Given the description of an element on the screen output the (x, y) to click on. 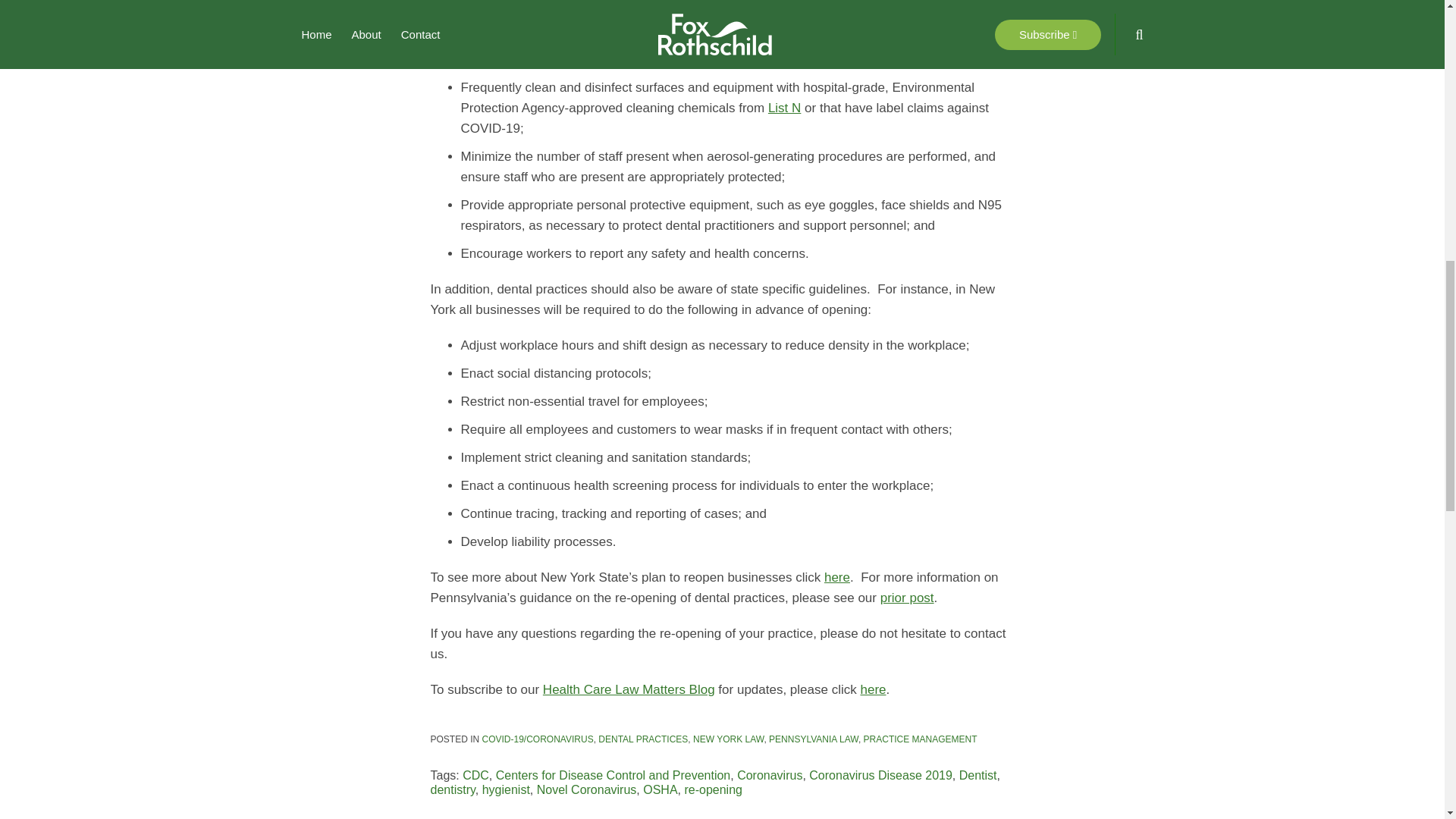
dentistry (453, 789)
NEW YORK LAW (727, 738)
Novel Coronavirus (587, 789)
Health Care Law Matters Blog (628, 689)
Coronavirus (769, 775)
here (872, 689)
prior post (907, 597)
OSHA (660, 789)
PRACTICE MANAGEMENT (919, 738)
Coronavirus Disease 2019 (880, 775)
DENTAL PRACTICES (642, 738)
hygienist (505, 789)
PENNSYLVANIA LAW (813, 738)
Dentist (978, 775)
here (837, 577)
